Given the description of an element on the screen output the (x, y) to click on. 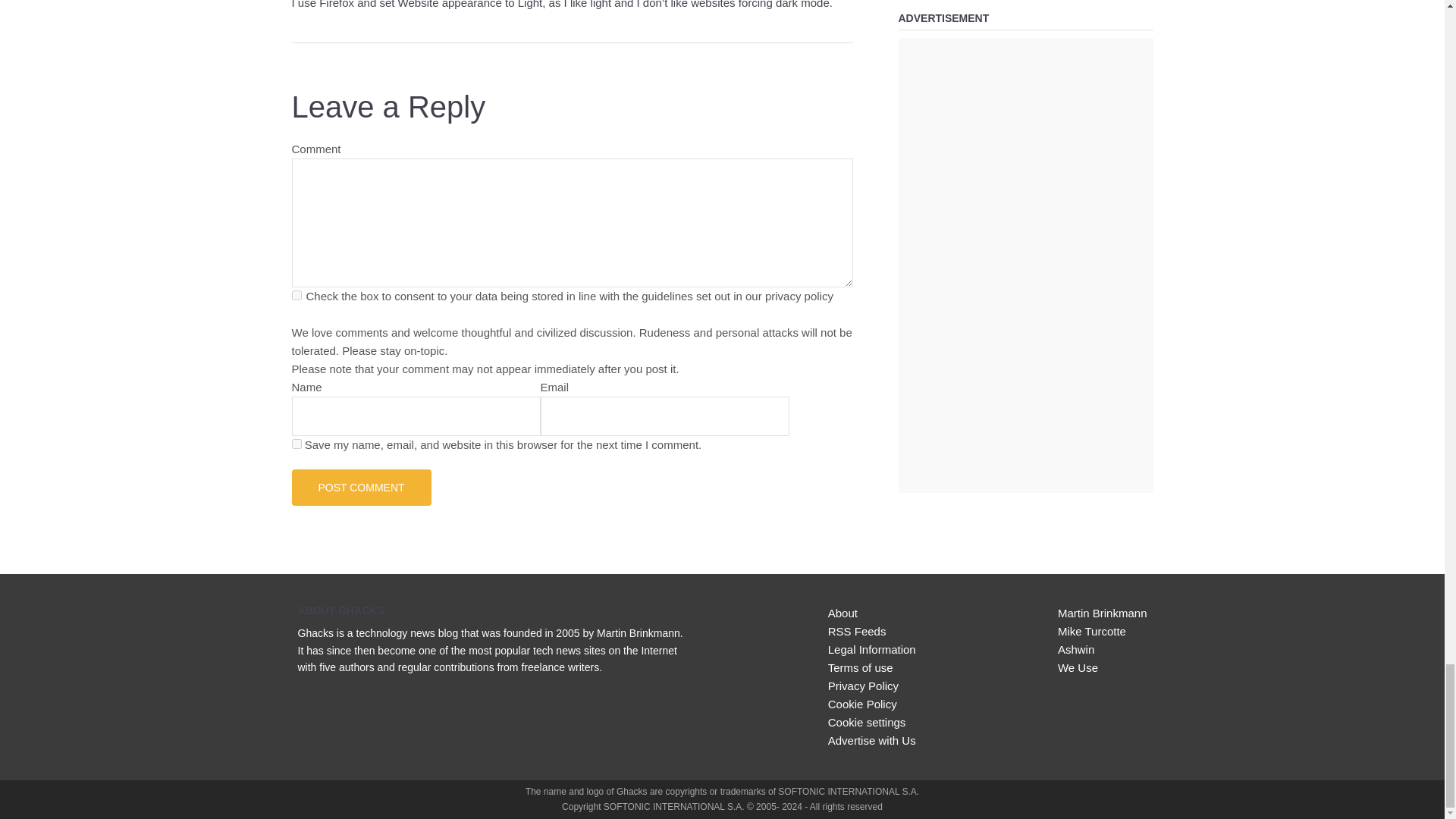
yes (296, 443)
Post Comment (360, 487)
privacy-key (296, 295)
